Given the description of an element on the screen output the (x, y) to click on. 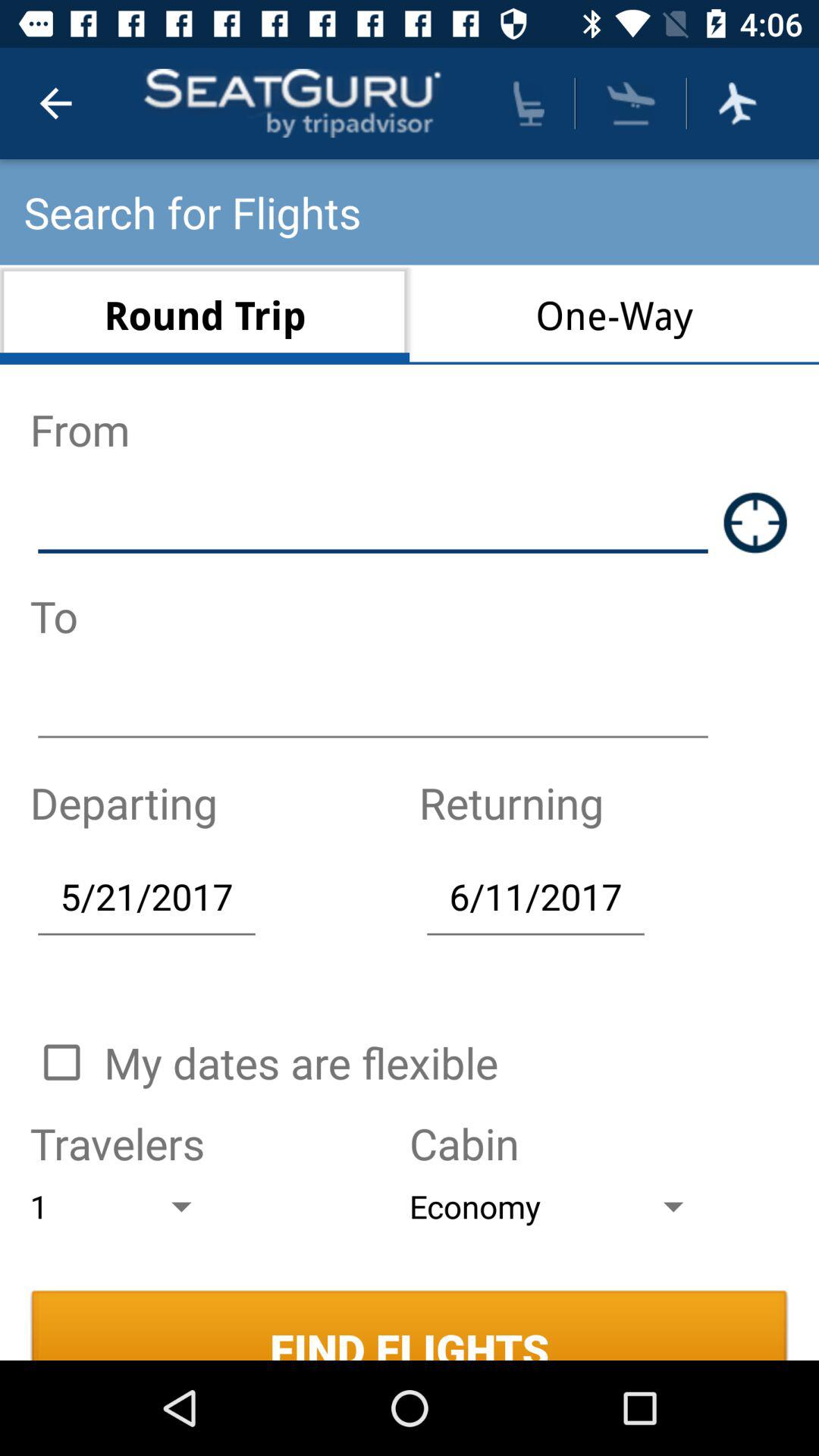
toggle flexible dates (61, 1062)
